Given the description of an element on the screen output the (x, y) to click on. 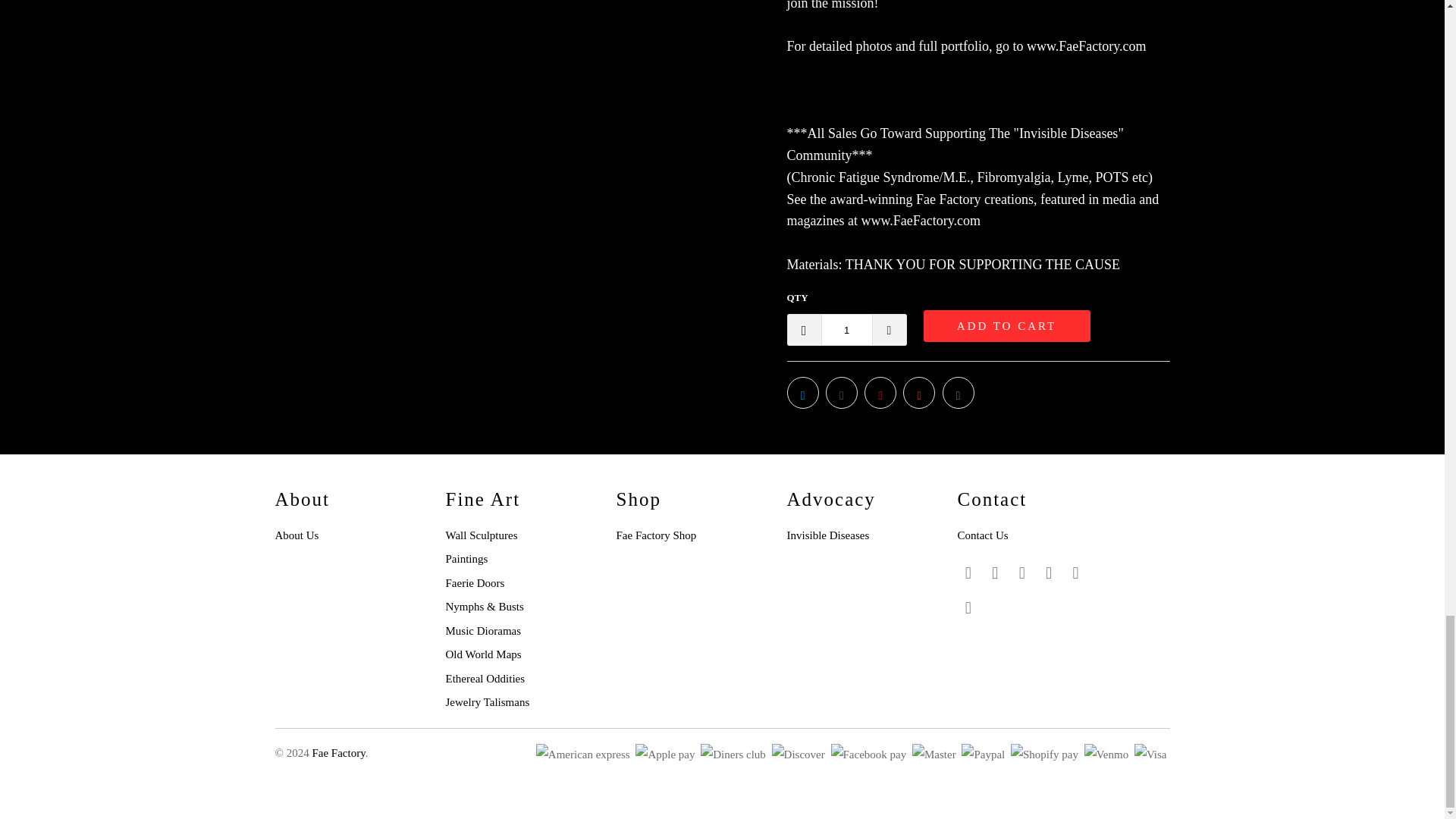
Fae Factory on Instagram (1075, 573)
Email Fae Factory (967, 607)
Share this on Pinterest (880, 392)
Email this to a friend (958, 392)
Fae Factory on YouTube (1021, 573)
Share this on Twitter (802, 392)
Fae Factory on Twitter (967, 573)
1 (846, 329)
Fae Factory on Pinterest (1049, 573)
Share this on Facebook (841, 392)
